Given the description of an element on the screen output the (x, y) to click on. 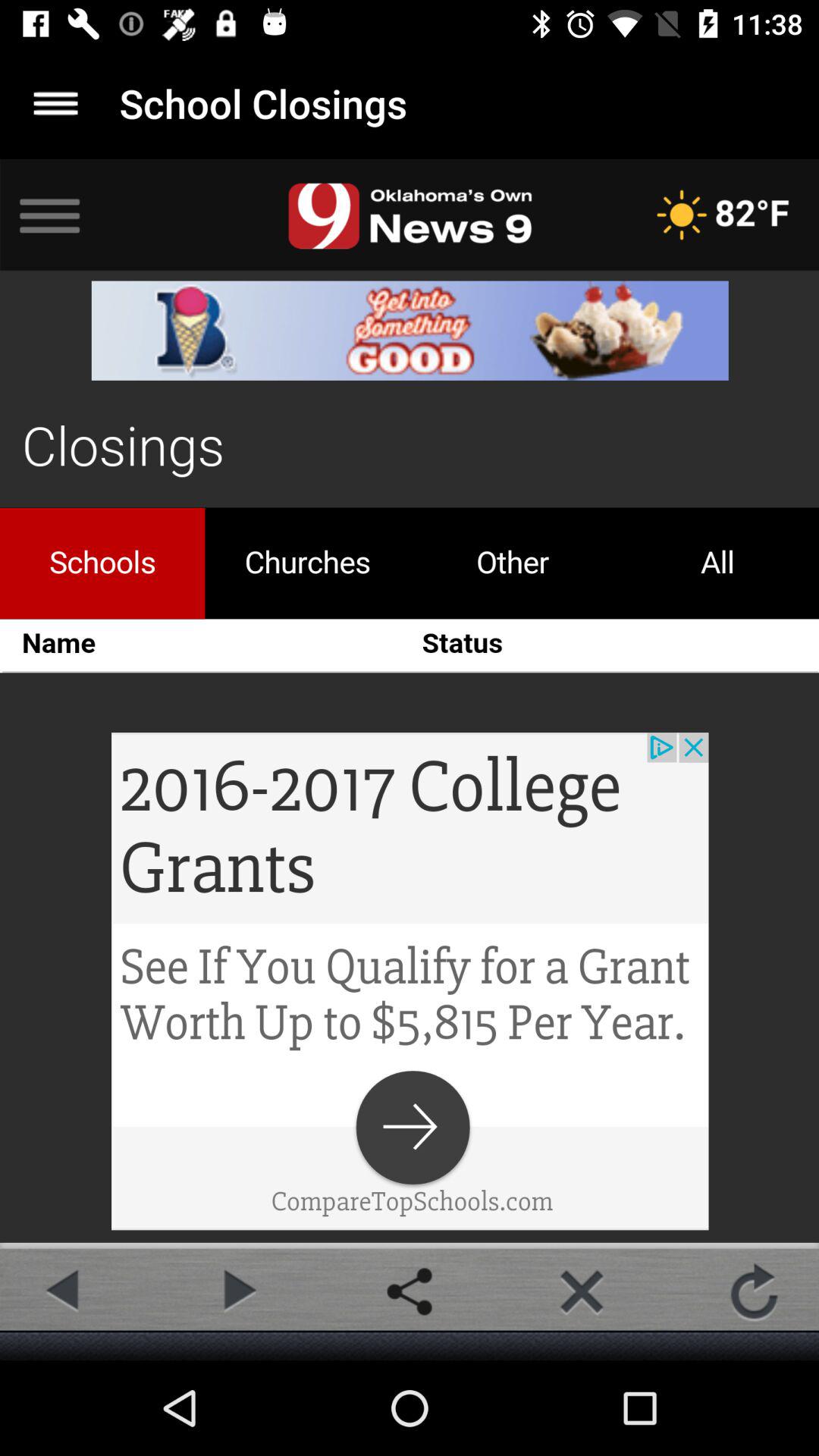
go to previous (64, 1291)
